Given the description of an element on the screen output the (x, y) to click on. 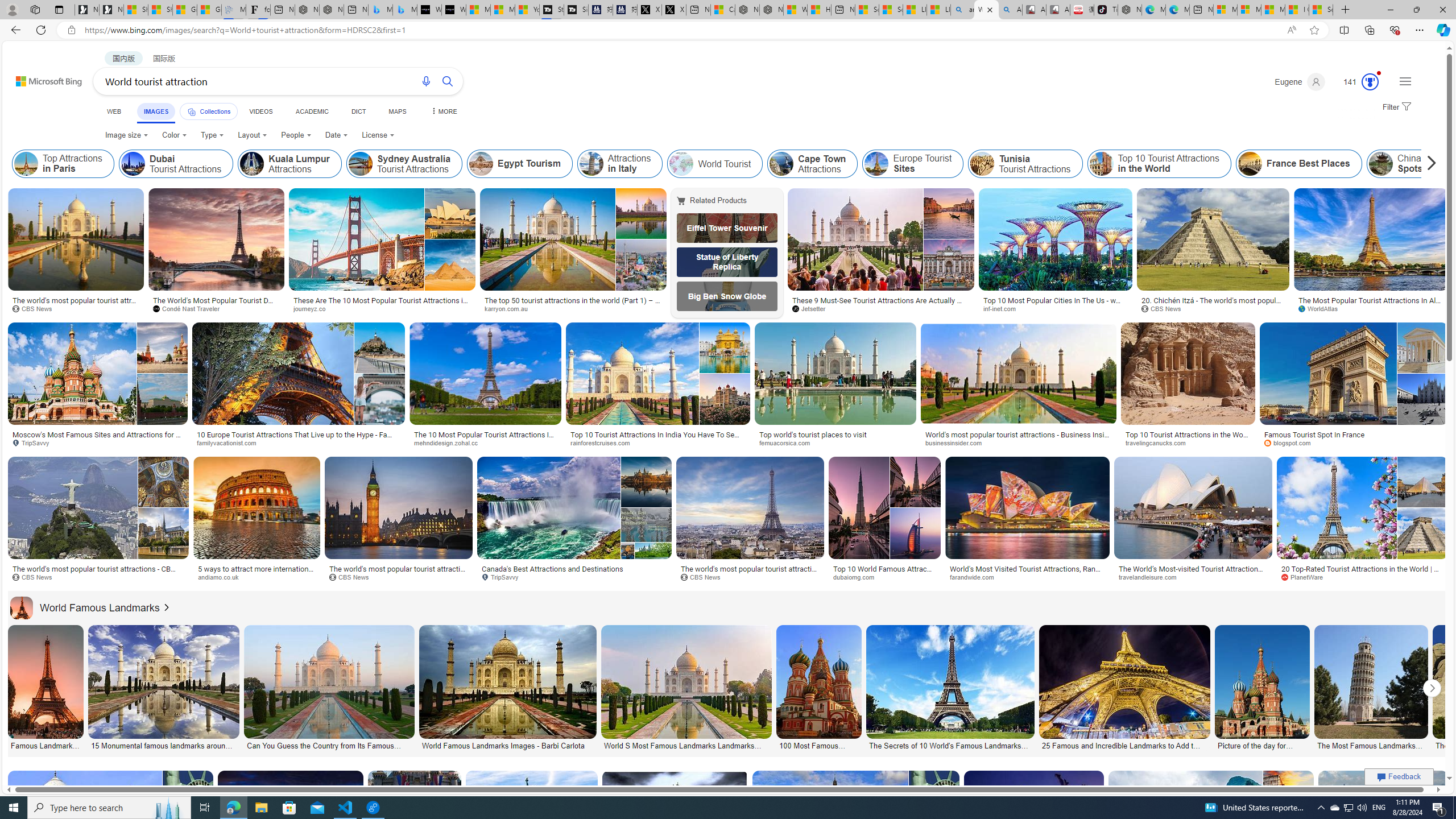
Top 10 Tourist Attractions in the World (1101, 163)
I Gained 20 Pounds of Muscle in 30 Days! | Watch (1296, 9)
farandwide.com (975, 576)
World tourist attraction - Search Images (986, 9)
karryon.com.au (509, 308)
WEB (114, 111)
